Given the description of an element on the screen output the (x, y) to click on. 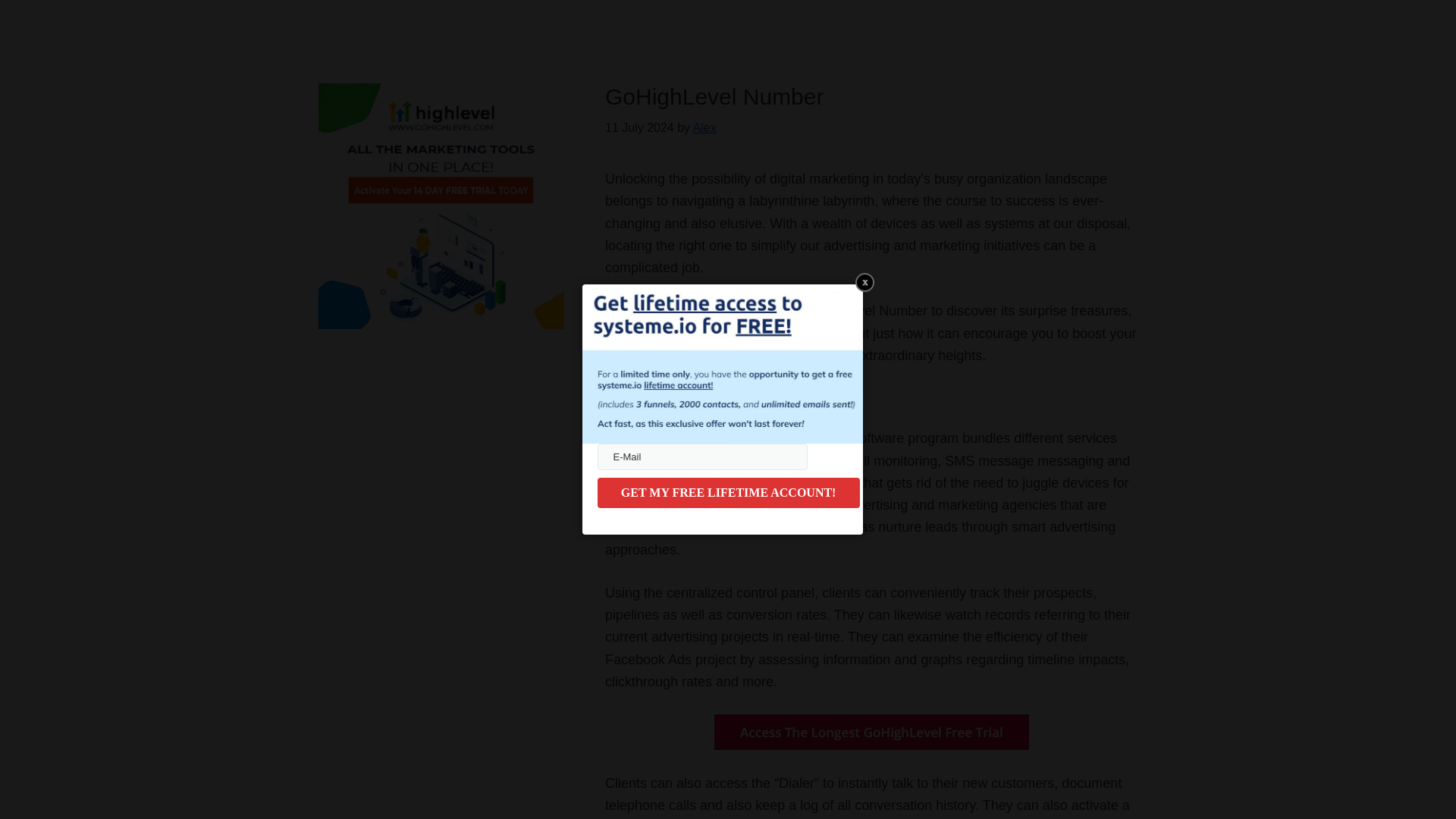
GET MY FREE LIFETIME ACCOUNT! (728, 492)
Alex (704, 127)
GET MY FREE LIFETIME ACCOUNT! (728, 492)
